Given the description of an element on the screen output the (x, y) to click on. 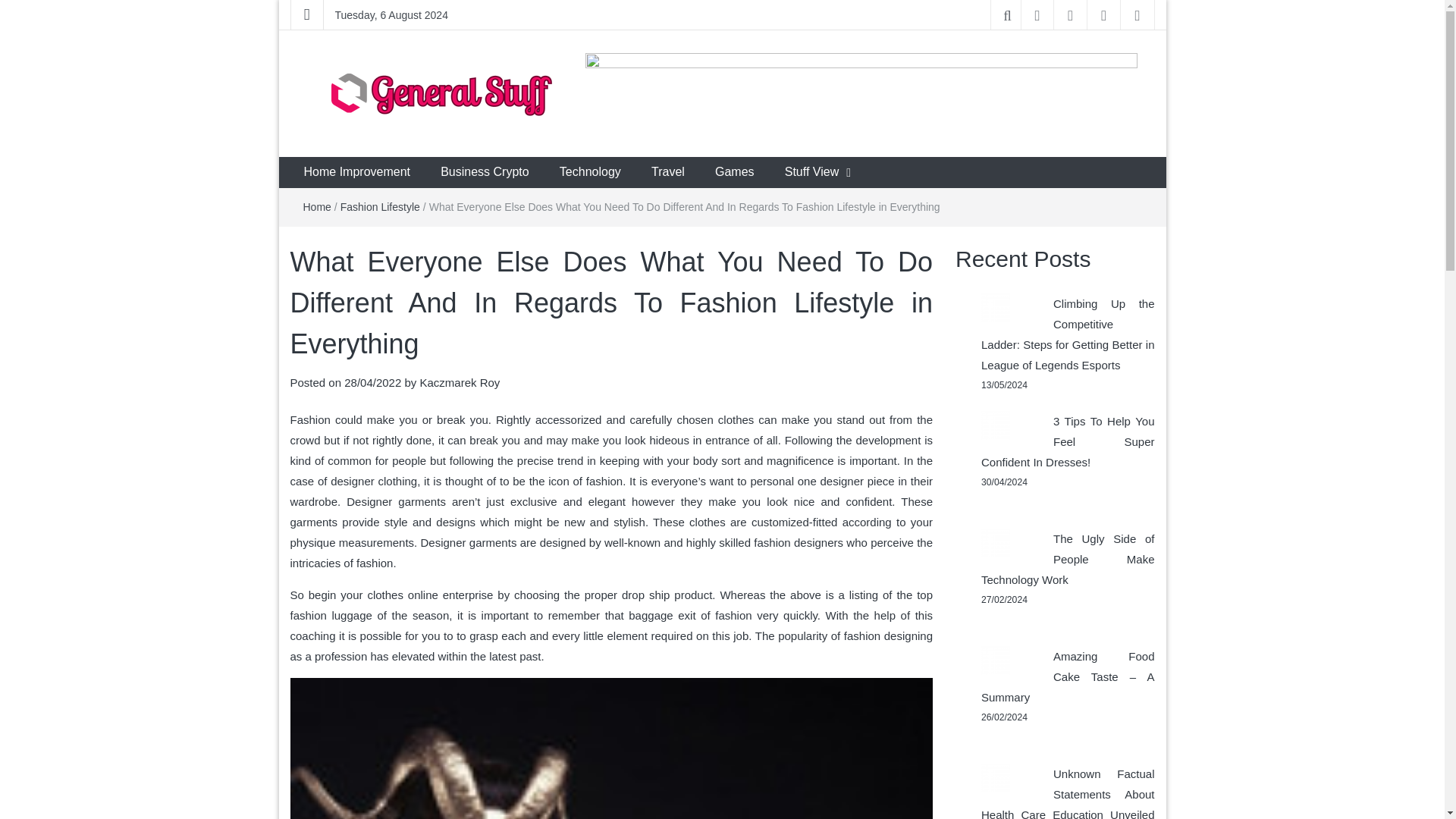
The Ugly Side of People Make Technology Work (995, 542)
Technology (590, 172)
Amazing Food Cake Taste - A Summary (995, 660)
Business Crypto (484, 172)
Search (15, 6)
Games (734, 172)
Home Improvement (356, 172)
Stuff View (811, 172)
General Stuff (369, 141)
